Given the description of an element on the screen output the (x, y) to click on. 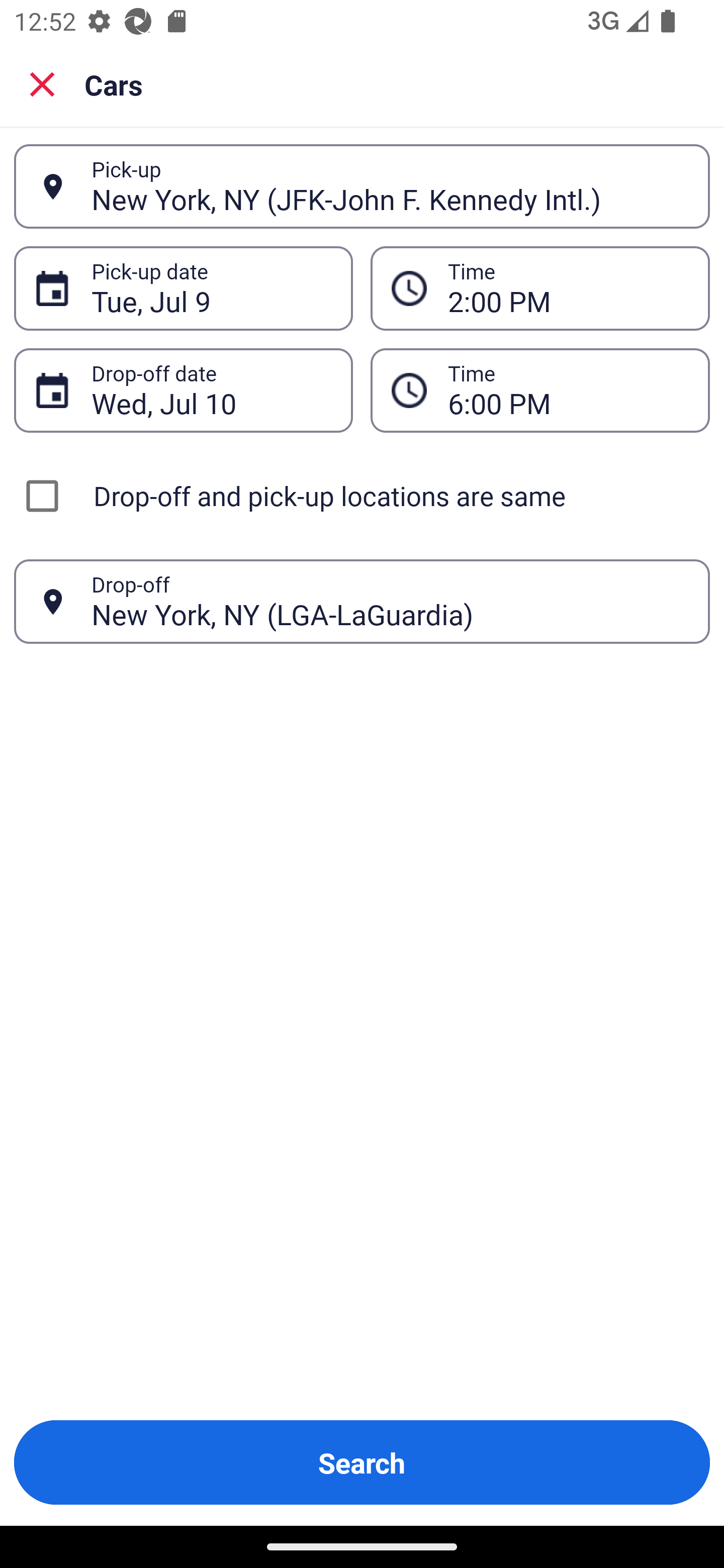
Close search screen (42, 84)
New York, NY (JFK-John F. Kennedy Intl.) (389, 186)
Tue, Jul 9 (211, 288)
2:00 PM (568, 288)
Wed, Jul 10 (211, 390)
6:00 PM (568, 390)
Drop-off and pick-up locations are same (361, 495)
New York, NY (LGA-LaGuardia) (389, 601)
Search Button Search (361, 1462)
